Given the description of an element on the screen output the (x, y) to click on. 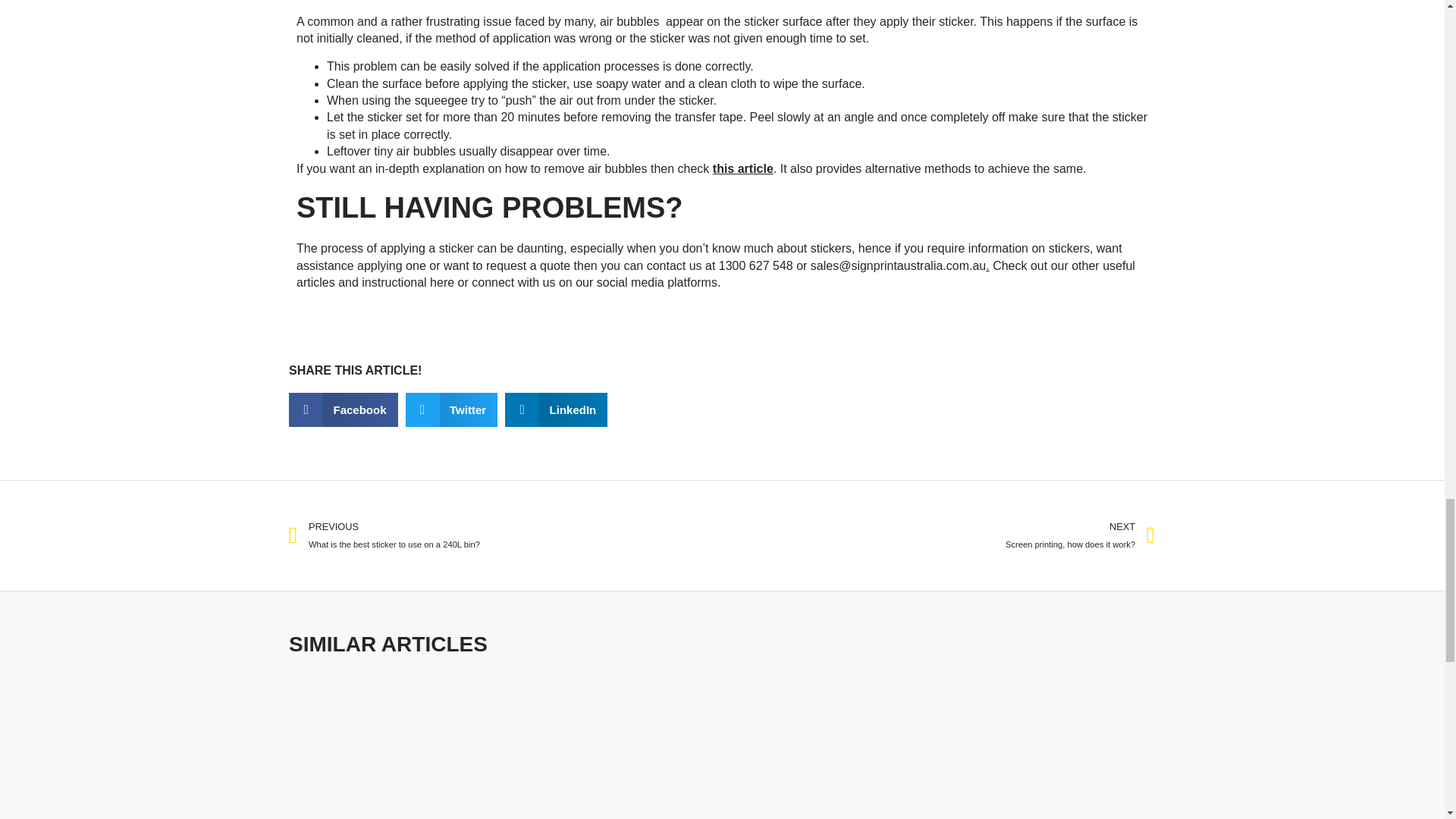
this article (938, 535)
